Given the description of an element on the screen output the (x, y) to click on. 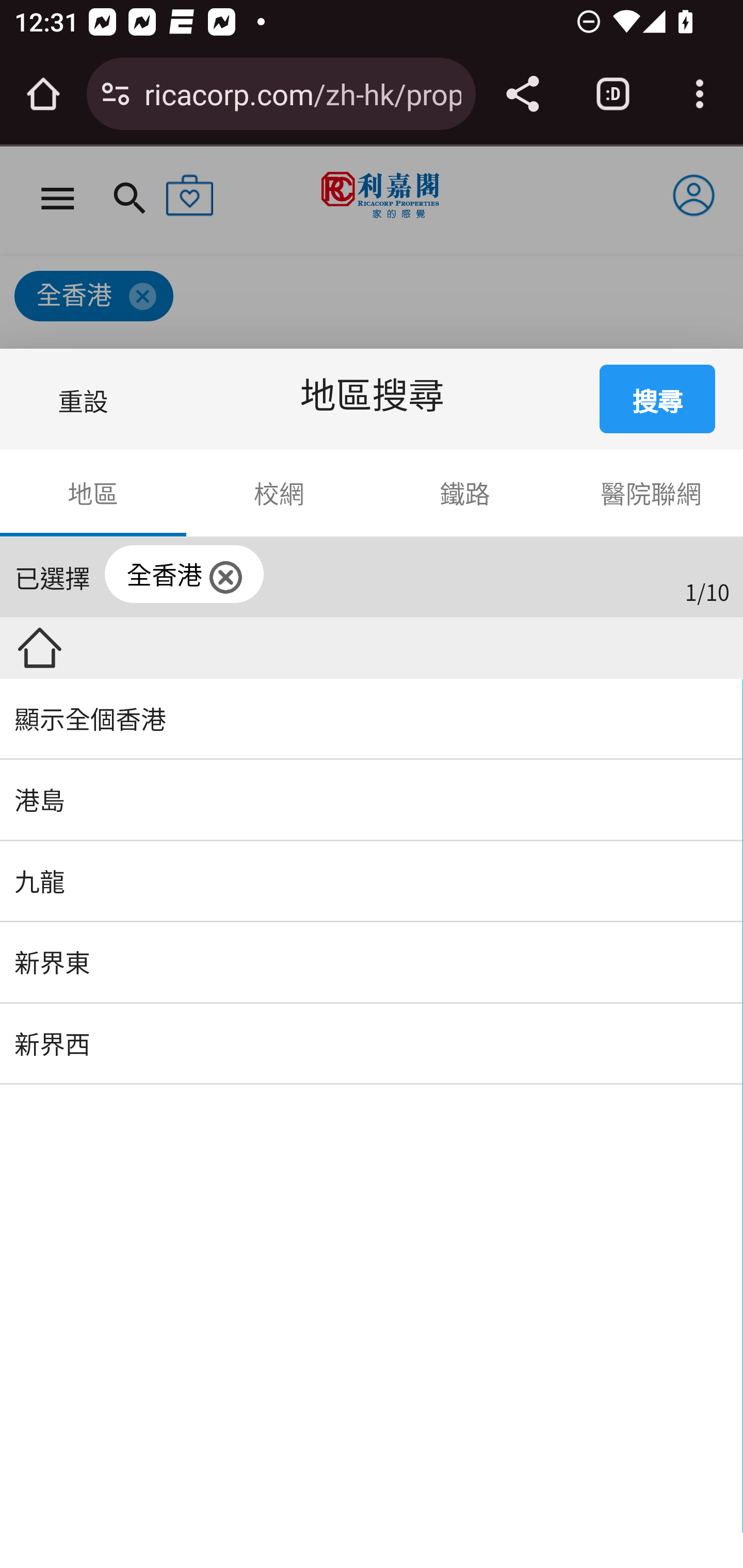
Open the home page (43, 93)
Connection is secure (115, 93)
Share (522, 93)
Switch or close tabs (612, 93)
Customize and control Google Chrome (699, 93)
ricacorp.com/zh-hk/property/list/buy (302, 92)
重設 (86, 398)
搜尋 (657, 398)
地區 (93, 492)
校網 (278, 492)
鐵路 (465, 492)
醫院聯網 (649, 492)
